Given the description of an element on the screen output the (x, y) to click on. 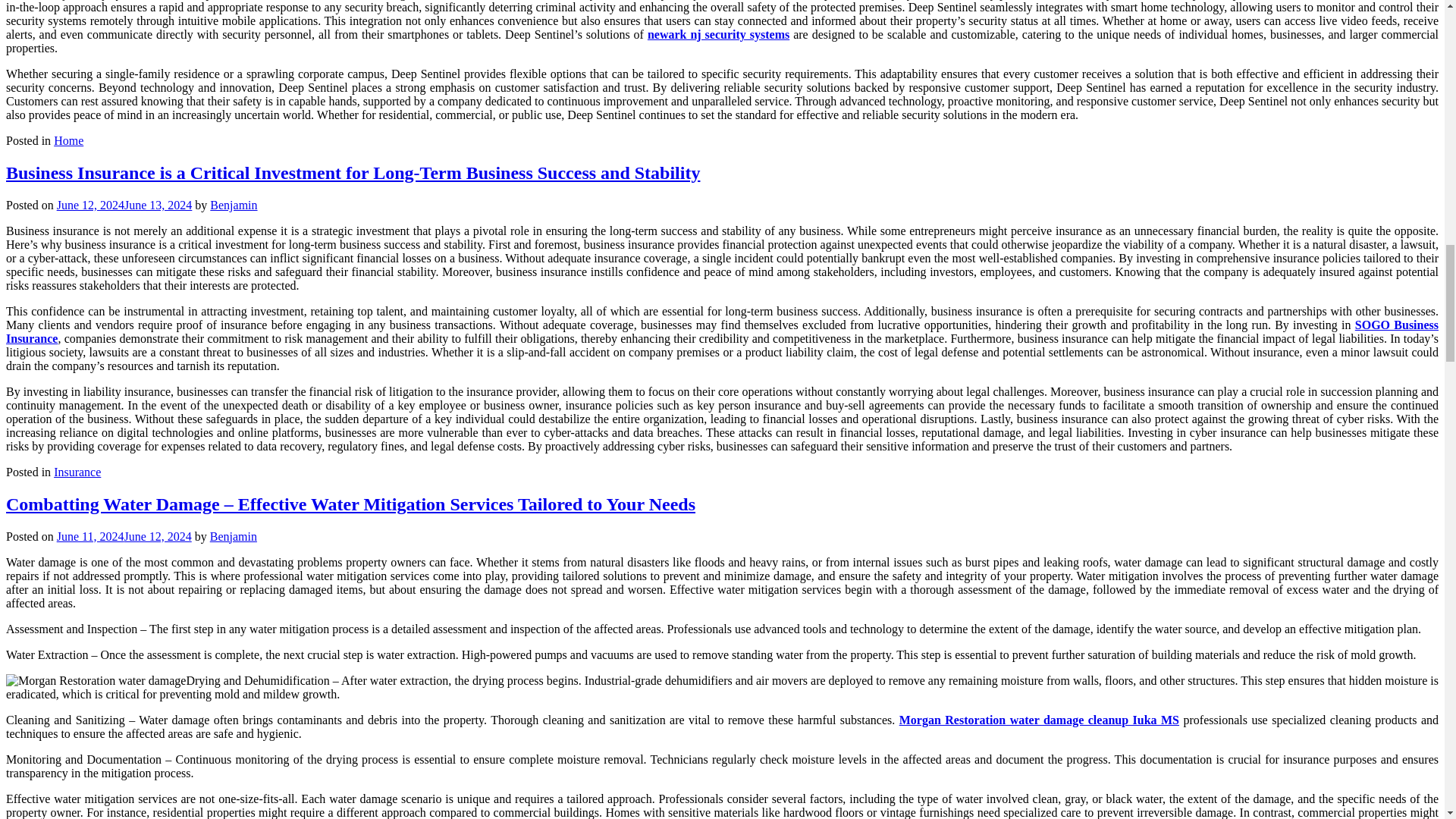
June 11, 2024June 12, 2024 (124, 535)
Home (67, 140)
newark nj security systems (718, 33)
Insurance (76, 472)
Benjamin (233, 205)
June 12, 2024June 13, 2024 (124, 205)
